Given the description of an element on the screen output the (x, y) to click on. 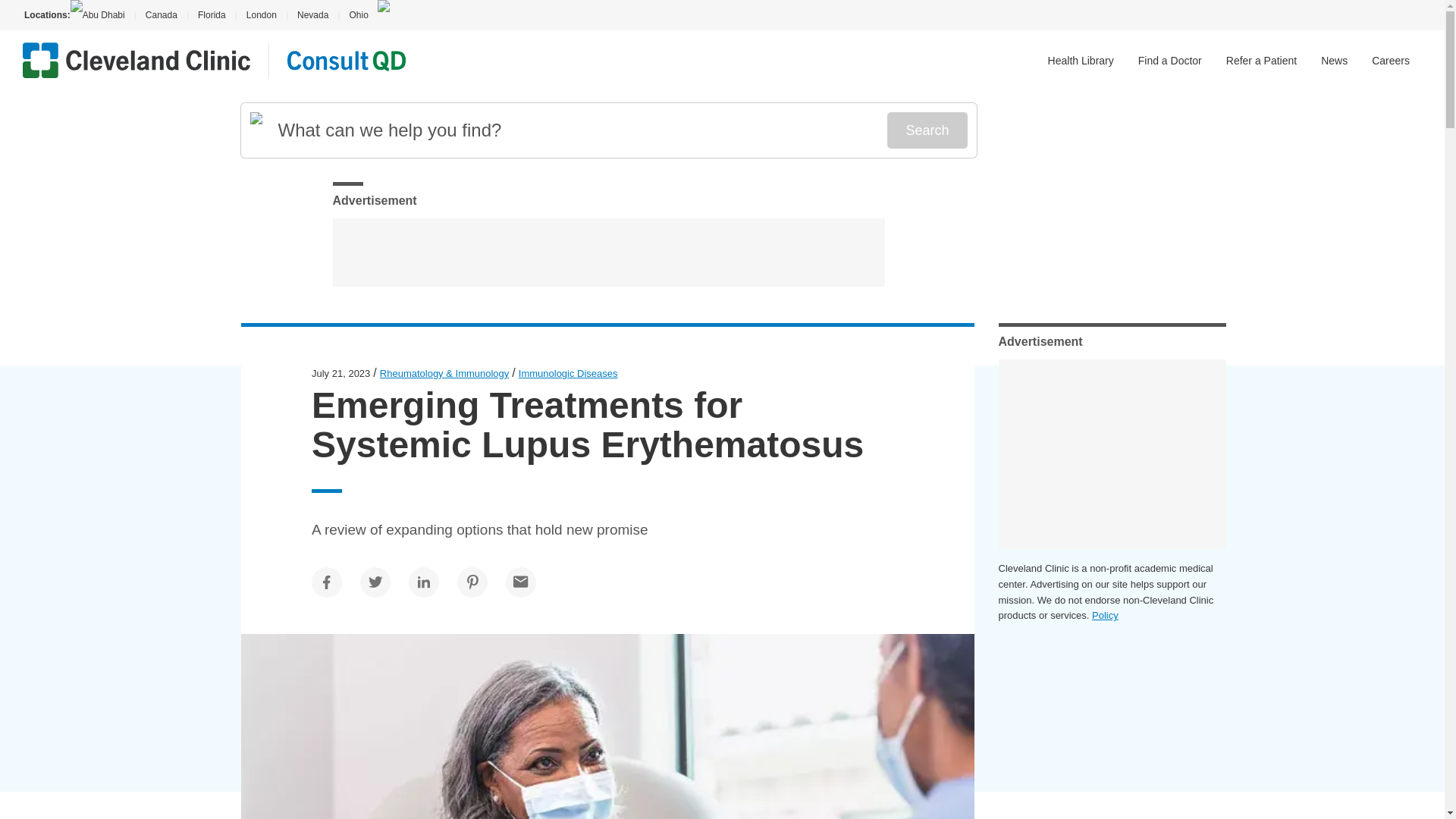
Refer a Patient (1261, 60)
Immunologic Diseases (567, 373)
Policy (1105, 614)
Health Library (1080, 60)
Nevada (312, 15)
London (261, 15)
Florida (211, 15)
Careers (1390, 60)
Find a Doctor (1170, 60)
News (1334, 60)
Abu Dhabi (101, 15)
Canada (161, 15)
Ohio (358, 15)
